Given the description of an element on the screen output the (x, y) to click on. 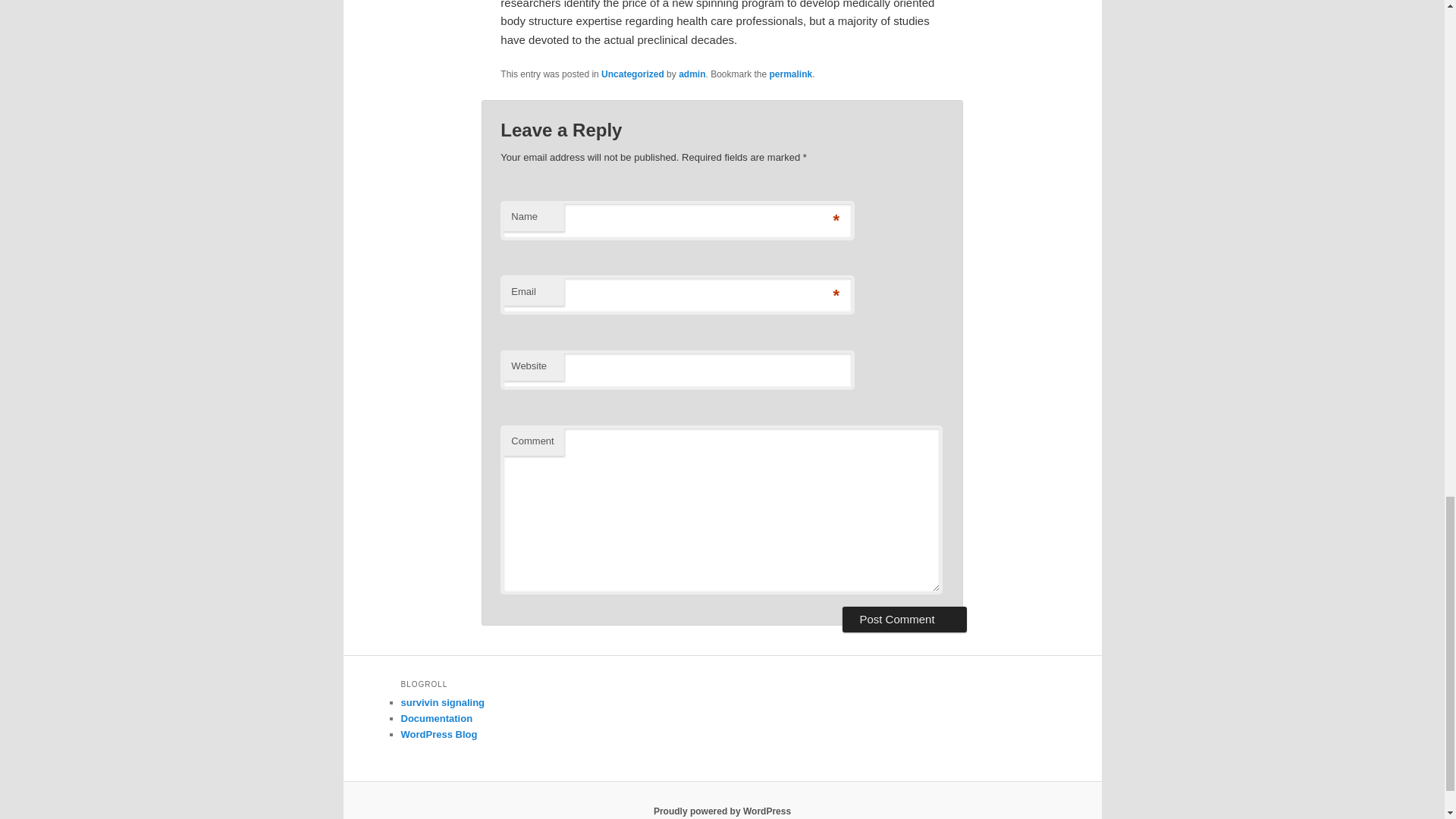
WordPress Blog (438, 734)
Post Comment (904, 619)
Semantic Personal Publishing Platform (721, 810)
View all posts in Uncategorized (632, 73)
Post Comment (904, 619)
admin (691, 73)
Documentation (435, 717)
Uncategorized (632, 73)
permalink (791, 73)
survivin signaling (442, 702)
Proudly powered by WordPress (721, 810)
